Given the description of an element on the screen output the (x, y) to click on. 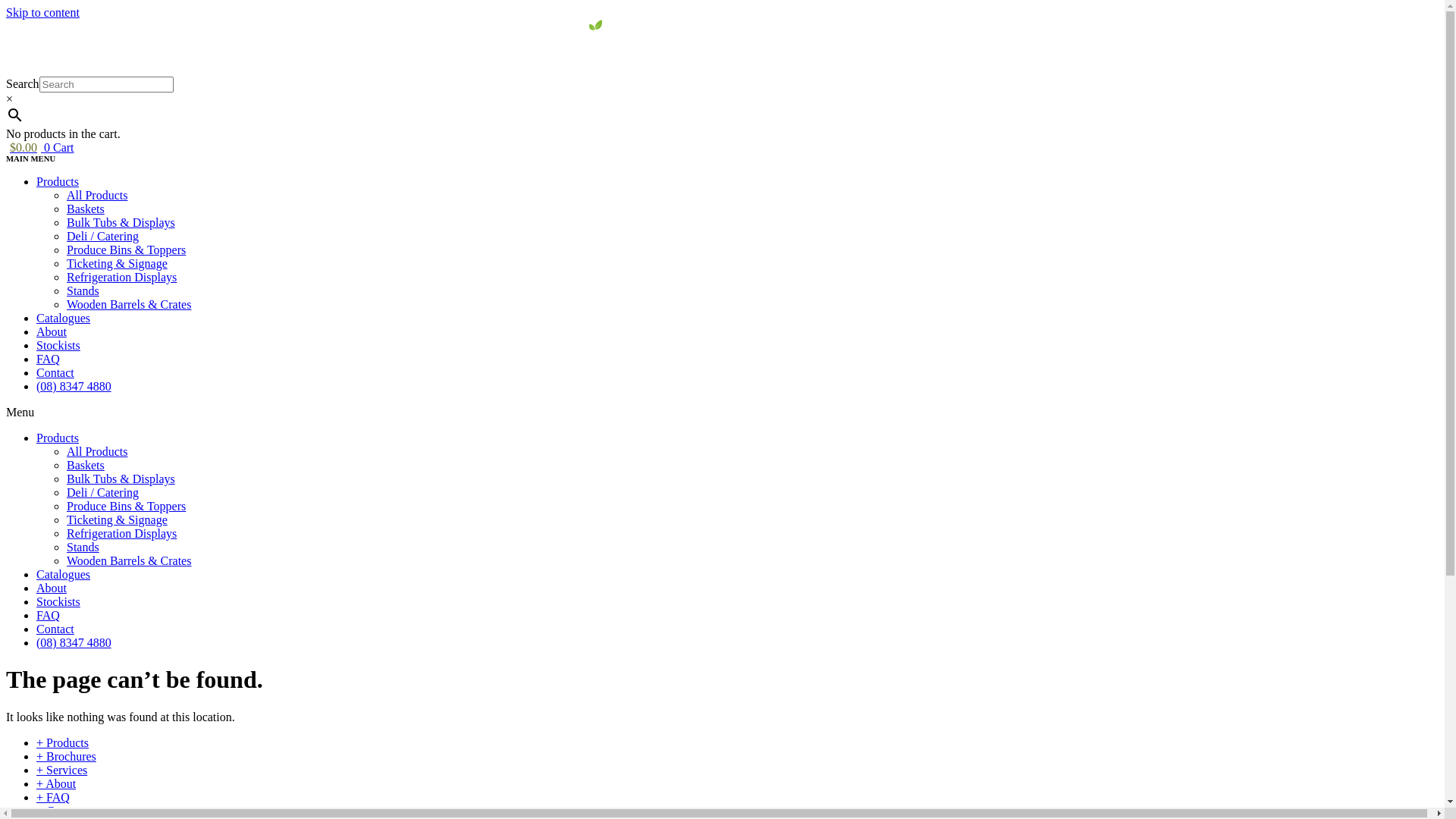
Skip to content Element type: text (42, 12)
Contact Element type: text (55, 372)
+ Contact Element type: text (60, 810)
+ FAQ Element type: text (52, 796)
Refrigeration Displays Element type: text (121, 276)
Wooden Barrels & Crates Element type: text (128, 304)
Products Element type: text (57, 181)
Baskets Element type: text (85, 464)
Stands Element type: text (82, 546)
Produce Bins & Toppers Element type: text (125, 249)
Stands Element type: text (82, 290)
(08) 8347 4880 Element type: text (73, 642)
All Products Element type: text (96, 194)
freshproducedisplays logo transparent Element type: hover (721, 47)
About Element type: text (51, 587)
Catalogues Element type: text (63, 573)
Deli / Catering Element type: text (102, 492)
Bulk Tubs & Displays Element type: text (120, 222)
Contact Element type: text (55, 628)
Catalogues Element type: text (63, 317)
Ticketing & Signage Element type: text (116, 263)
Wooden Barrels & Crates Element type: text (128, 560)
+ Brochures Element type: text (66, 755)
Refrigeration Displays Element type: text (121, 533)
Products Element type: text (57, 437)
Deli / Catering Element type: text (102, 235)
FAQ Element type: text (47, 358)
FAQ Element type: text (47, 614)
Produce Bins & Toppers Element type: text (125, 505)
+ About Element type: text (55, 783)
Stockists Element type: text (58, 601)
(08) 8347 4880 Element type: text (73, 385)
+ Products Element type: text (62, 742)
Ticketing & Signage Element type: text (116, 519)
$0.00 0 Cart Element type: text (40, 147)
Baskets Element type: text (85, 208)
About Element type: text (51, 331)
All Products Element type: text (96, 451)
Stockists Element type: text (58, 344)
Bulk Tubs & Displays Element type: text (120, 478)
+ Services Element type: text (61, 769)
